Given the description of an element on the screen output the (x, y) to click on. 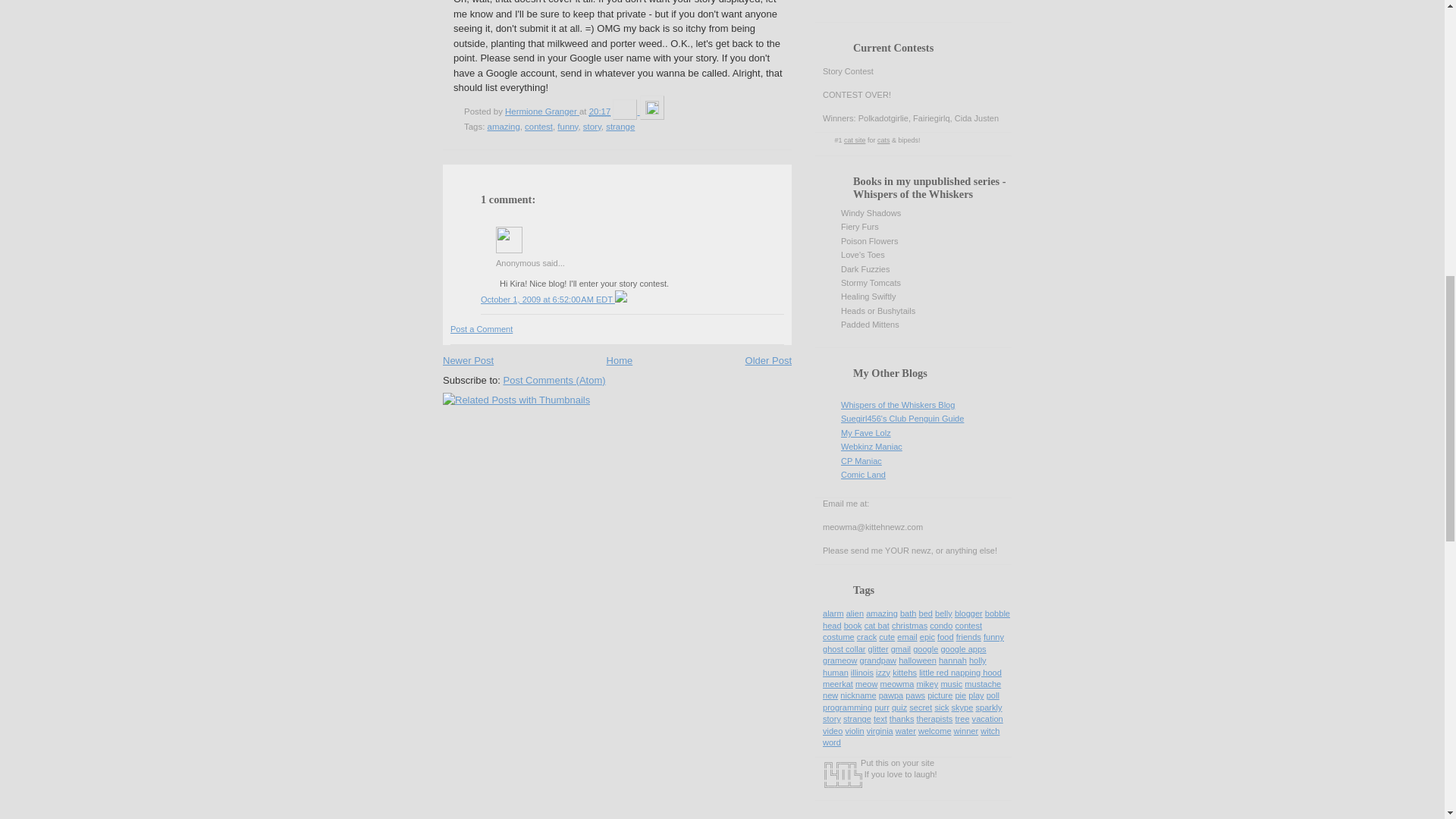
bath (908, 613)
cat site (855, 140)
Edit Post (651, 111)
strange (619, 126)
CP Maniac (861, 461)
story (592, 126)
Older Post (768, 360)
Newer Post (467, 360)
cat site (855, 140)
My Fave Lolz (866, 432)
cats (883, 140)
alien (854, 613)
author profile (542, 111)
Comic Land (863, 474)
